Given the description of an element on the screen output the (x, y) to click on. 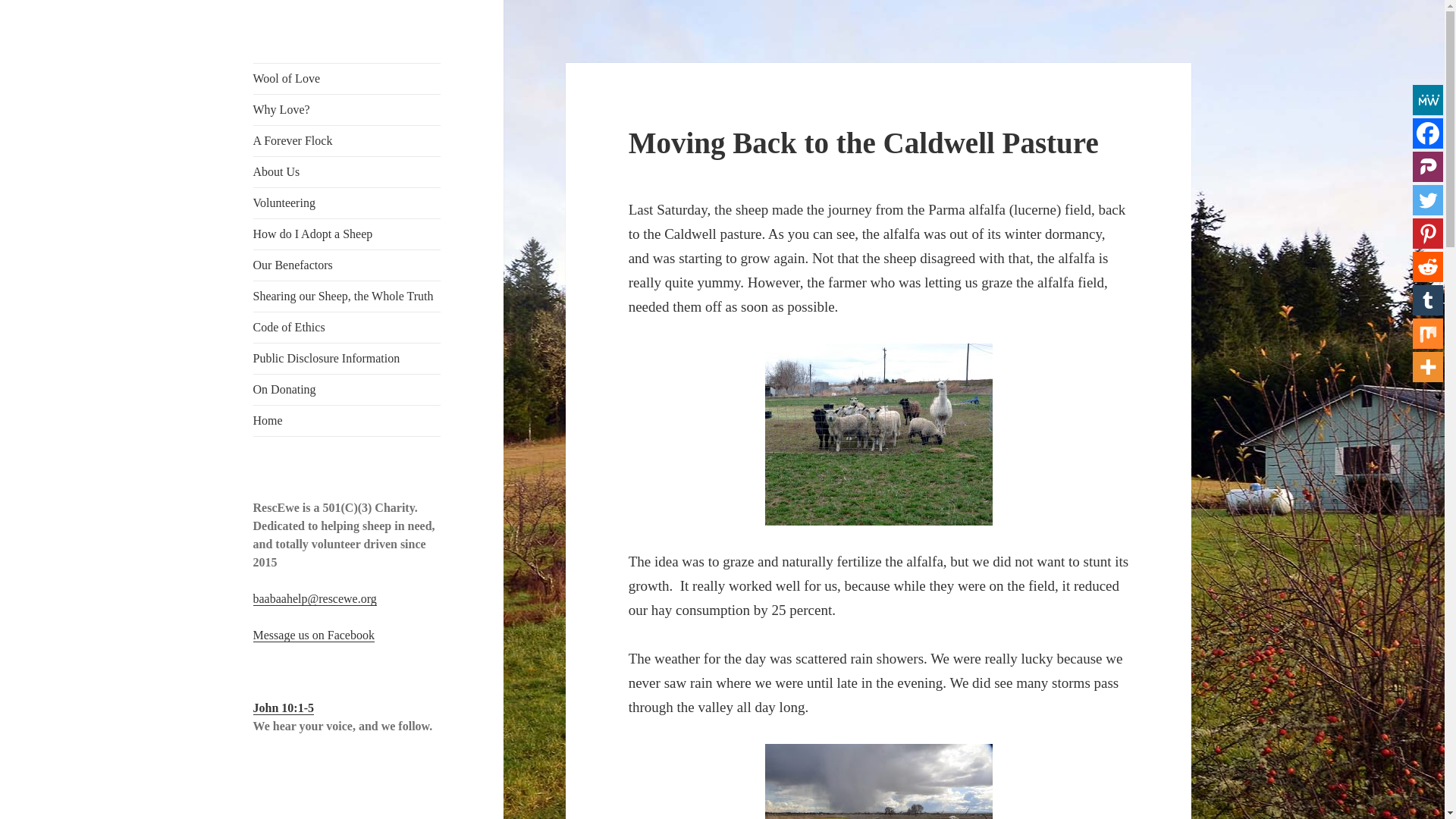
Our Benefactors (347, 265)
MeWe (1427, 100)
Public Disclosure Information (347, 358)
Reddit (1427, 266)
Shearing our Sheep, the Whole Truth (347, 296)
About Us (347, 172)
RescEwe (298, 74)
On Donating (347, 389)
Code of Ethics (347, 327)
Twitter (1427, 200)
Home (347, 420)
Facebook (1427, 132)
Pinterest (1427, 233)
Why Love? (347, 110)
Wool of Love (347, 78)
